Given the description of an element on the screen output the (x, y) to click on. 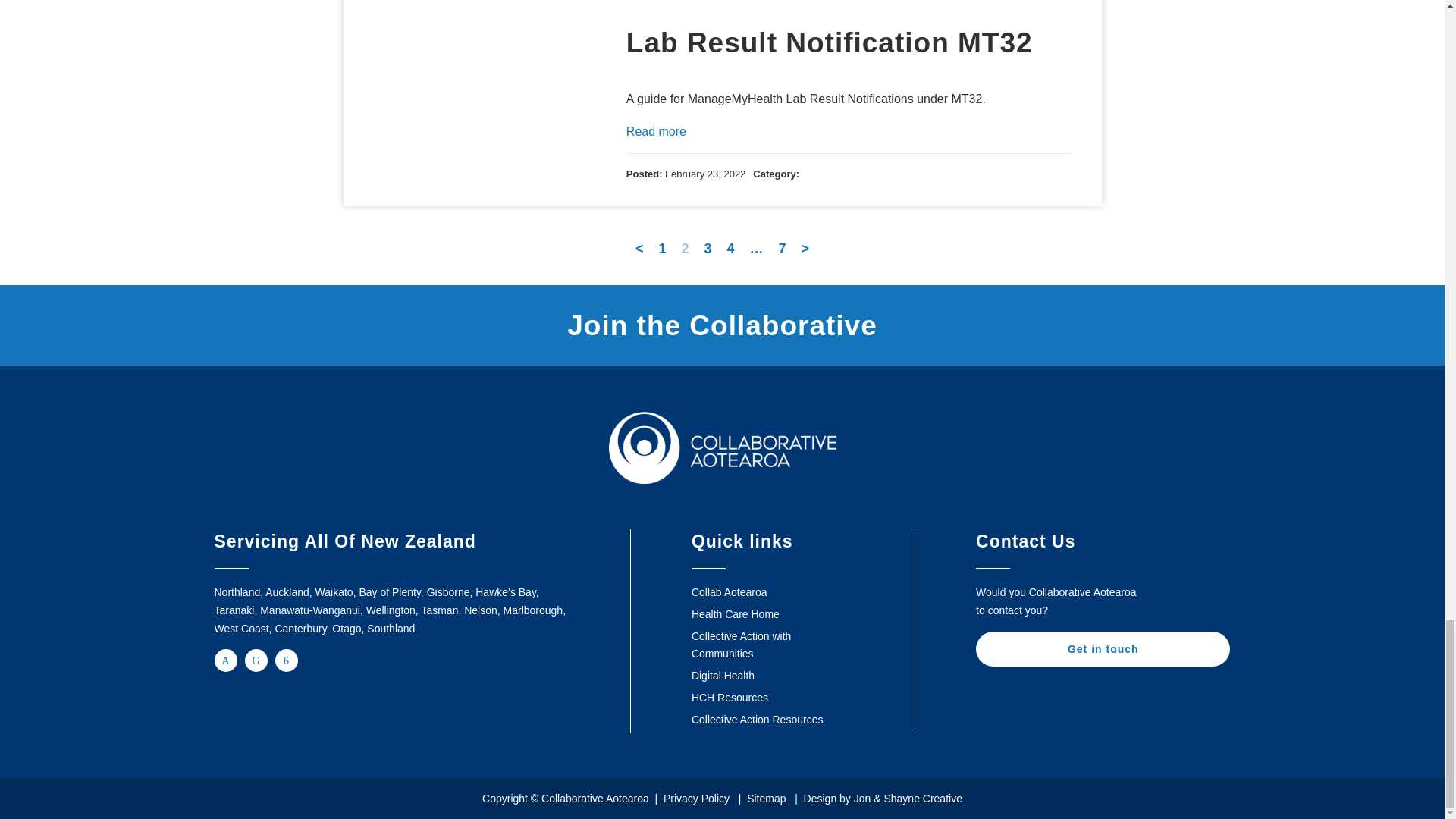
Find us on LinkedIn (255, 660)
Find us on Facebook (224, 660)
Contact (1102, 649)
Follow us on YouTube (286, 660)
